Given the description of an element on the screen output the (x, y) to click on. 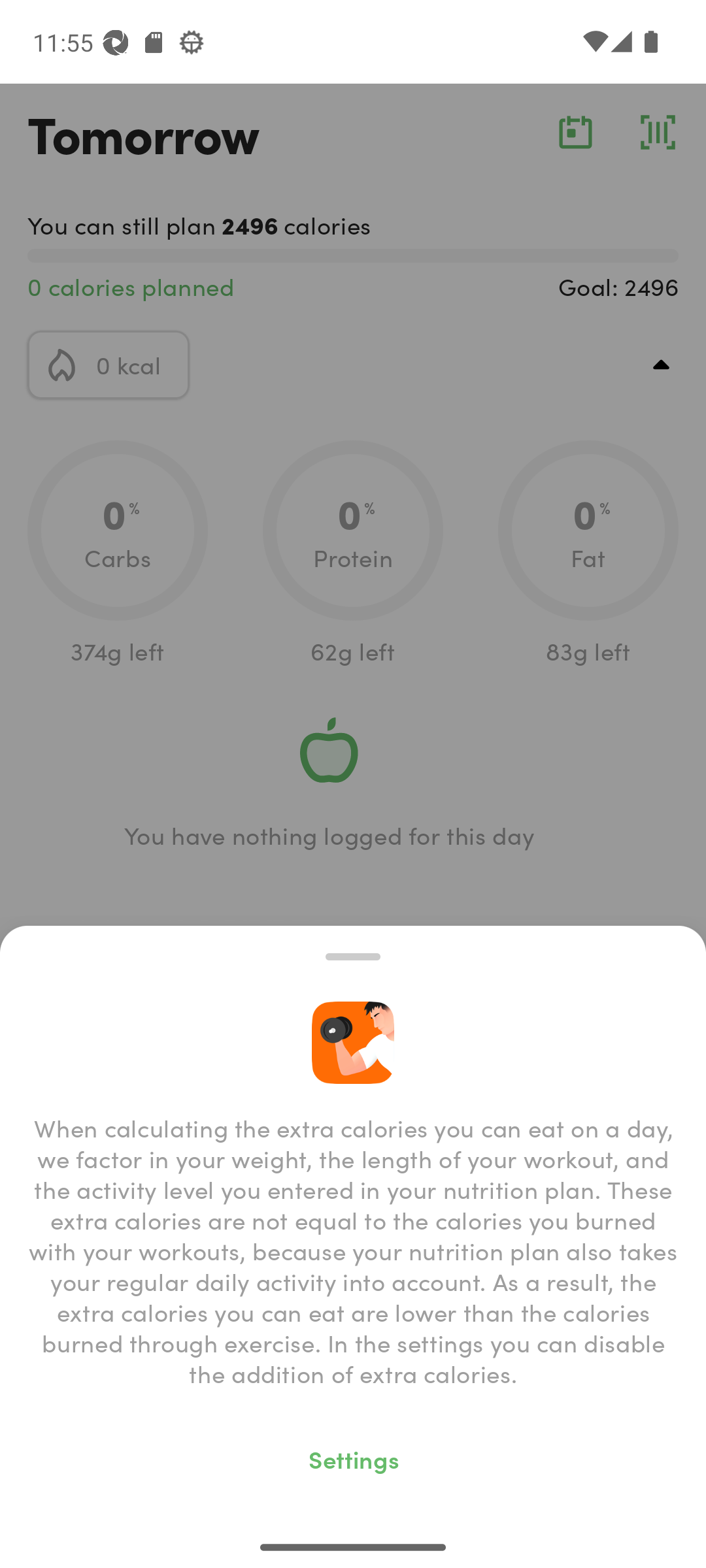
Settings (353, 1458)
